Given the description of an element on the screen output the (x, y) to click on. 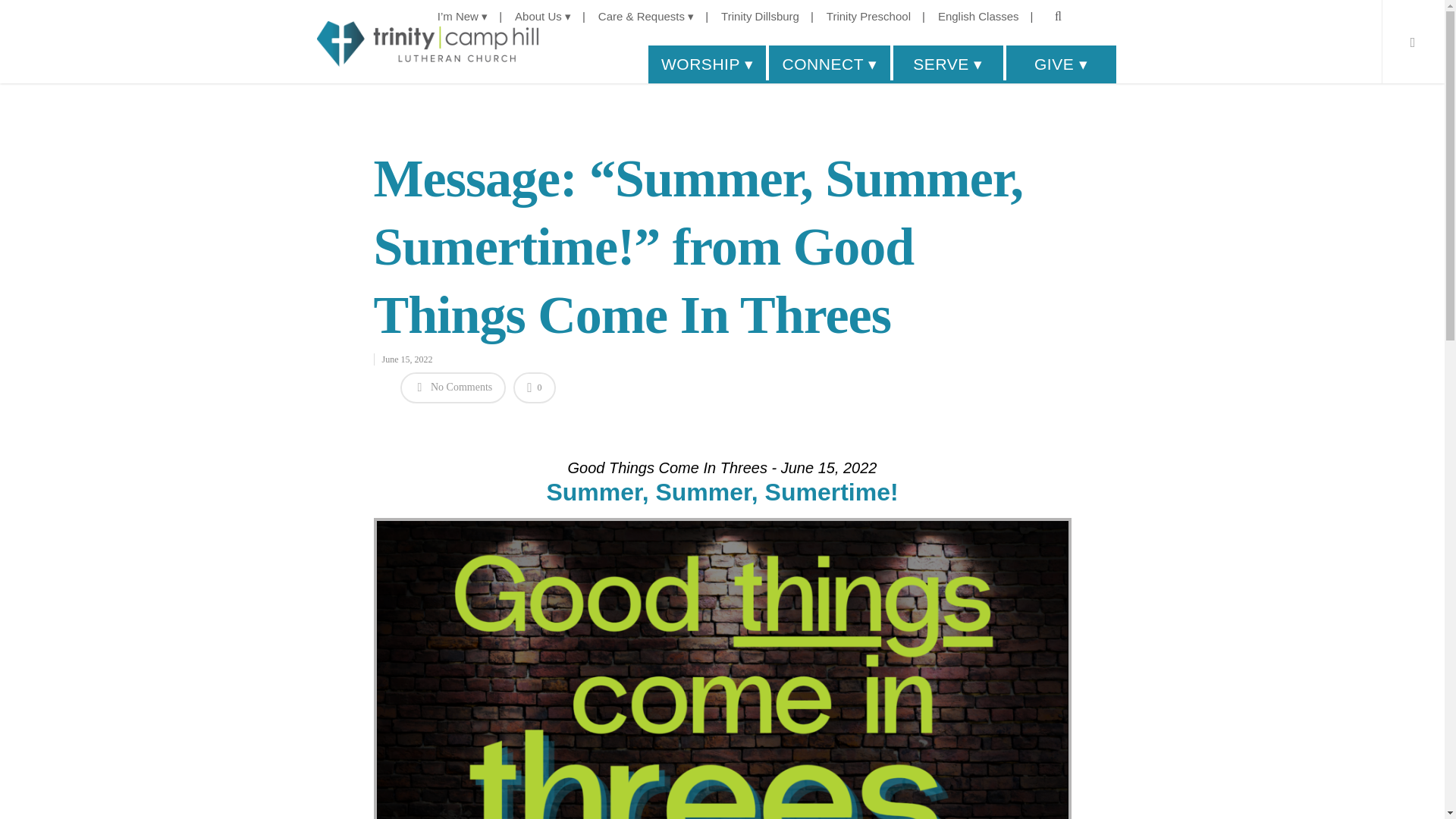
Trinity Preschool (881, 16)
Trinity Dillsburg (772, 16)
English Classes (991, 16)
Love this (533, 387)
